Given the description of an element on the screen output the (x, y) to click on. 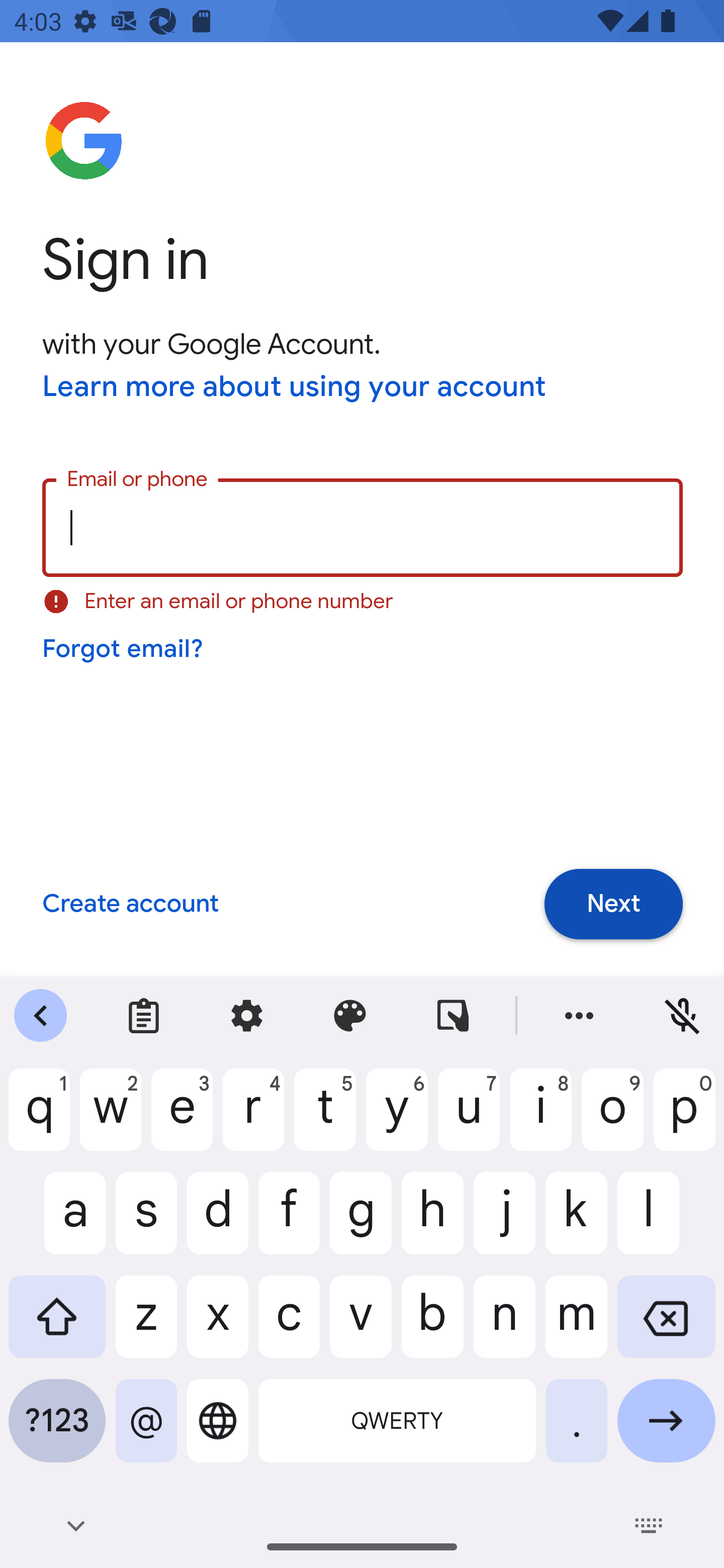
Learn more about using your account (294, 388)
Forgot email? (123, 648)
Next (613, 903)
Create account (129, 904)
